Given the description of an element on the screen output the (x, y) to click on. 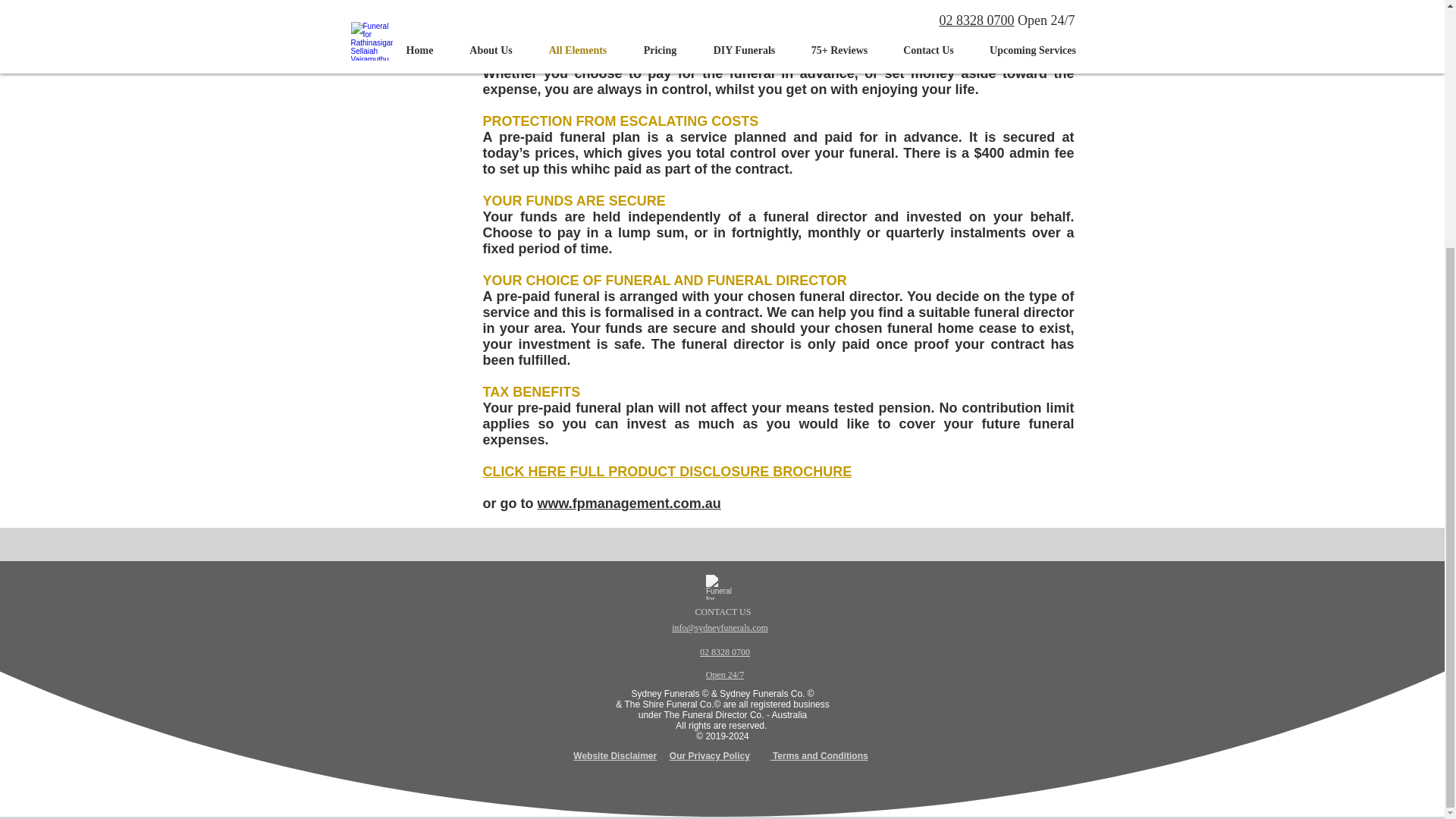
 Terms and Conditions (818, 756)
Website Disclaimer (614, 756)
Our Privacy Policy (709, 756)
www.fpmanagement.com.au (628, 503)
CLICK HERE FULL PRODUCT DISCLOSURE BROCHURE (666, 471)
